Given the description of an element on the screen output the (x, y) to click on. 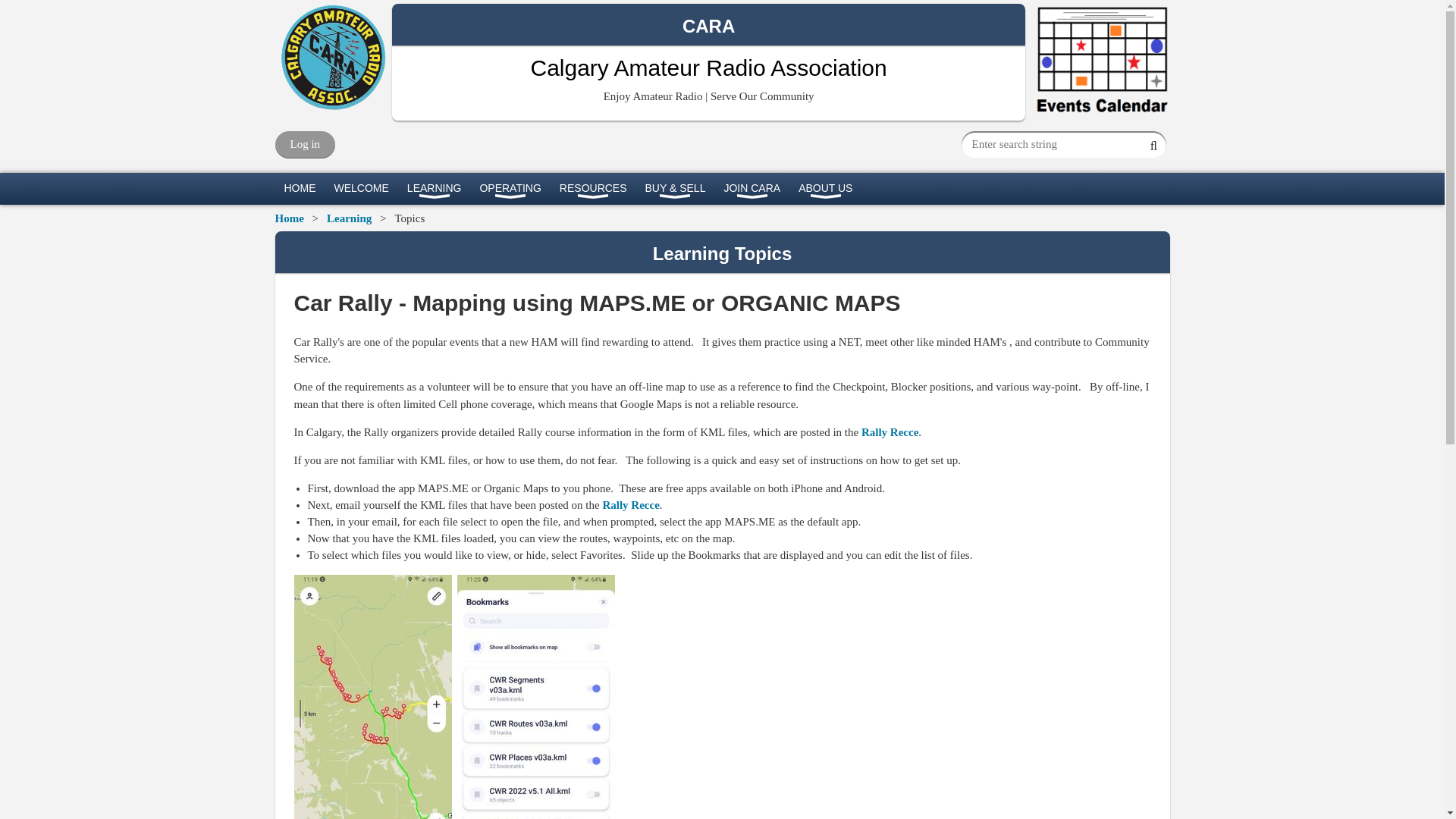
Operating (510, 188)
RESOURCES (593, 188)
Welcome (360, 188)
Home (299, 188)
LEARNING (433, 188)
HOME (299, 188)
Log in (304, 144)
Learning (433, 188)
WELCOME (360, 188)
OPERATING (510, 188)
